Given the description of an element on the screen output the (x, y) to click on. 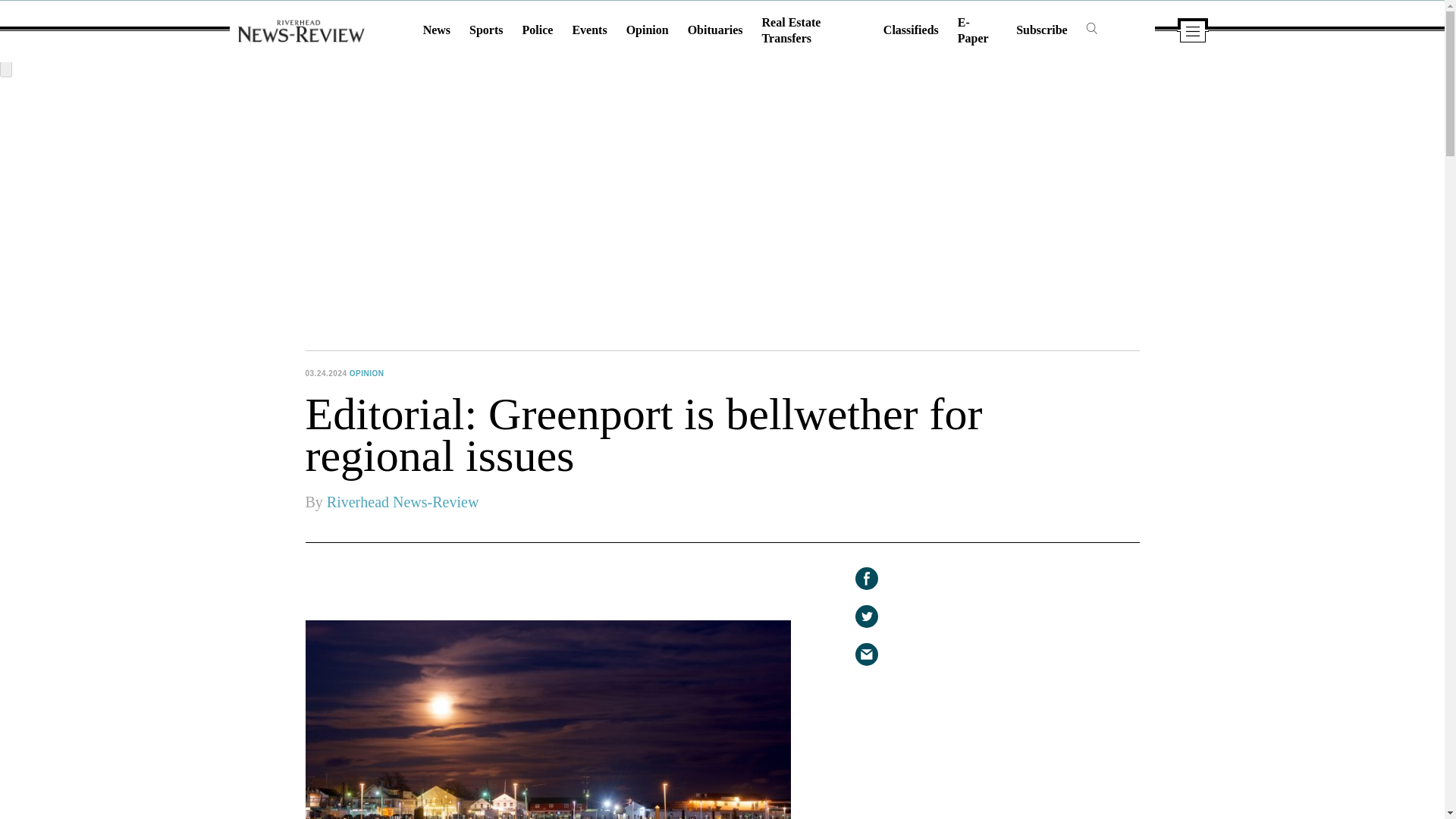
Police (537, 29)
Classifieds (911, 29)
Obituaries (714, 29)
Events (589, 29)
Share via email. (866, 653)
Sports (485, 29)
Share on Facebook. (866, 578)
News (436, 29)
Opinion (647, 29)
Real Estate Transfers (791, 30)
Subscribe (1041, 29)
E-Paper (973, 30)
3rd party ad content (1024, 696)
